Given the description of an element on the screen output the (x, y) to click on. 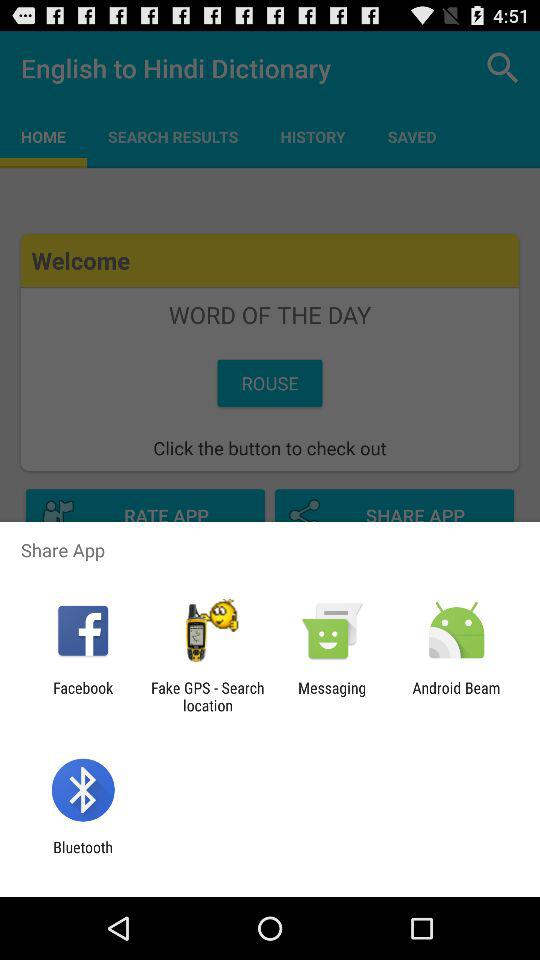
turn off the icon to the left of android beam app (332, 696)
